Given the description of an element on the screen output the (x, y) to click on. 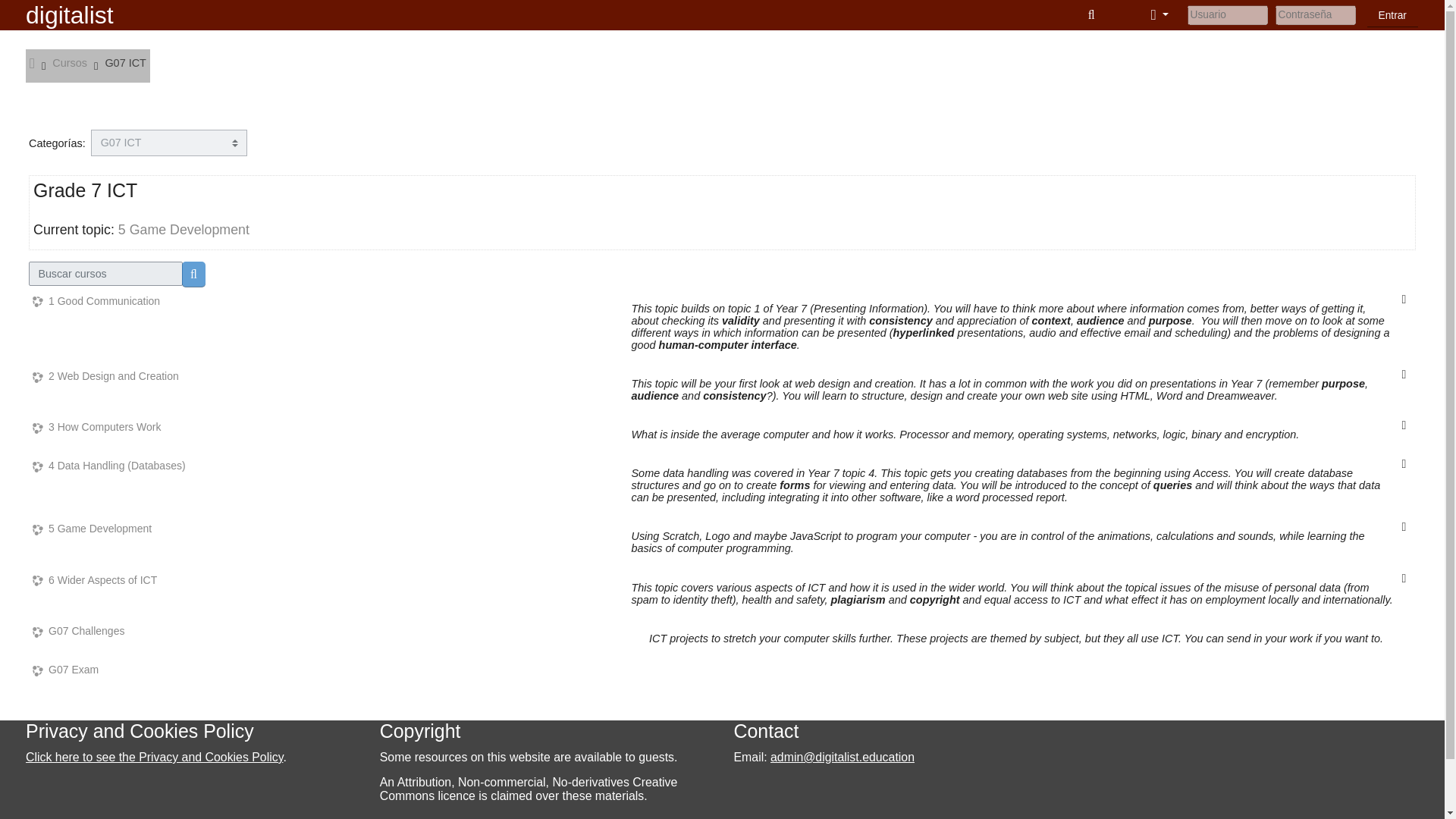
Cursos (69, 62)
5 Game Development (91, 528)
G07 Challenges (77, 631)
5 Game Development (182, 229)
3 How Computers Work (96, 427)
G07 Exam (65, 669)
6 Wider Aspects of ICT (94, 580)
2 Web Design and Creation (105, 376)
G07 ICT (125, 62)
Entrar (1392, 15)
Buscar cursos (193, 273)
1 Good Communication (96, 300)
Click here to see the Privacy and Cookies Policy (154, 757)
Idioma (1159, 14)
